Given the description of an element on the screen output the (x, y) to click on. 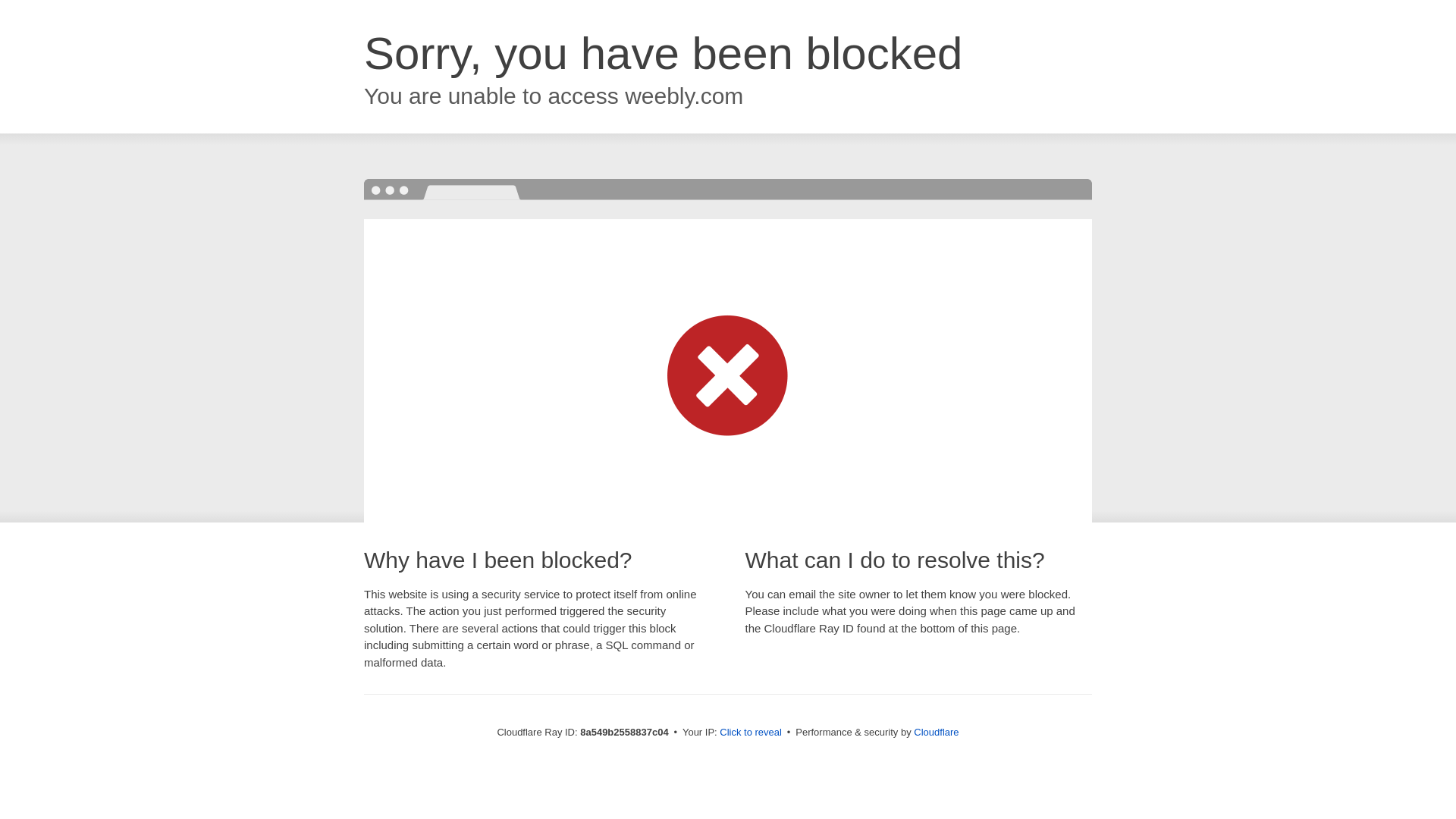
Click to reveal (750, 732)
Cloudflare (936, 731)
